Given the description of an element on the screen output the (x, y) to click on. 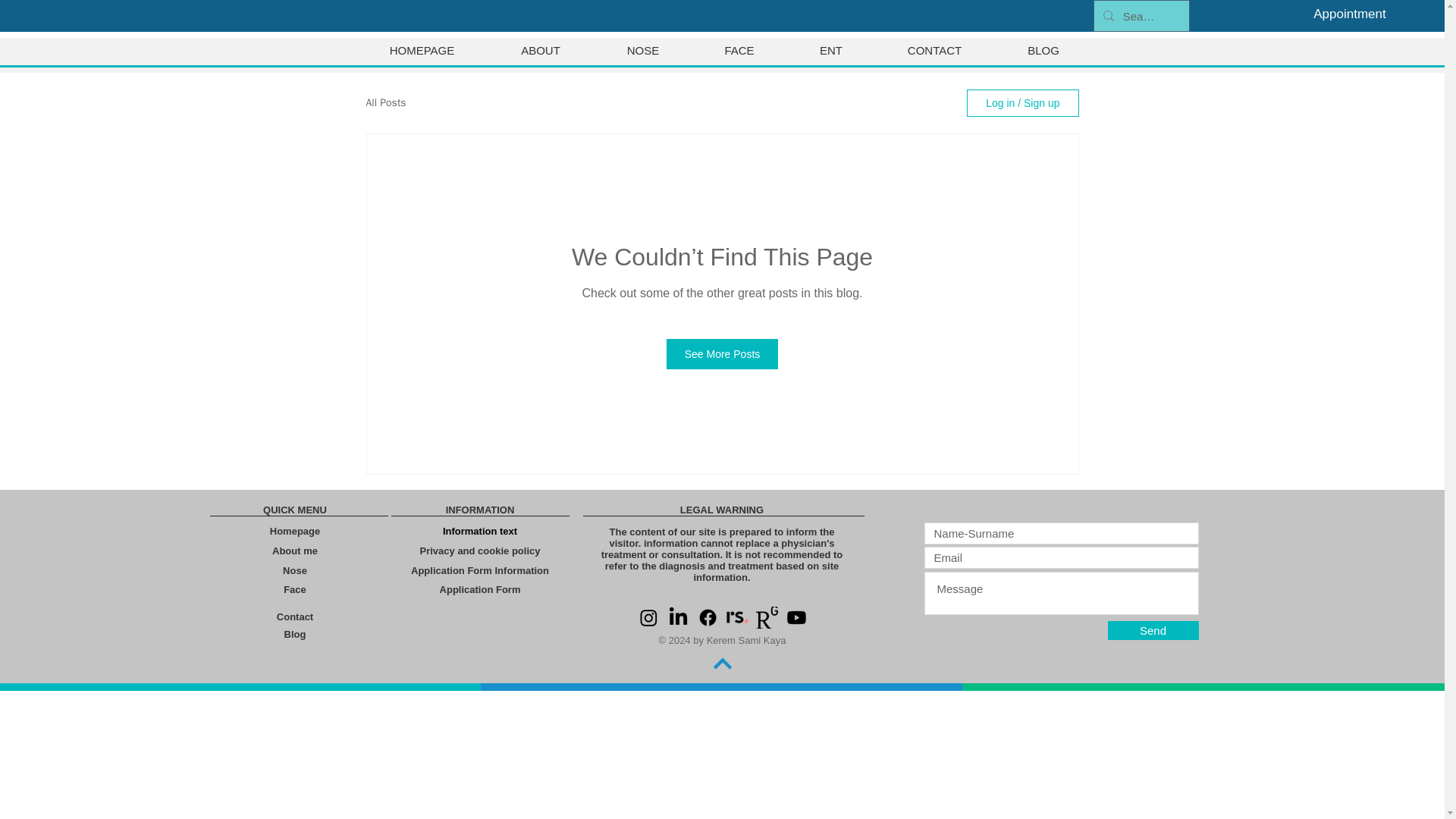
FACE (738, 50)
HOMEPAGE (421, 50)
Send (1152, 629)
See More Posts (722, 354)
CONTACT (933, 50)
All Posts (385, 102)
ENT (831, 50)
ABOUT (540, 50)
NOSE (643, 50)
BLOG (1042, 50)
